Given the description of an element on the screen output the (x, y) to click on. 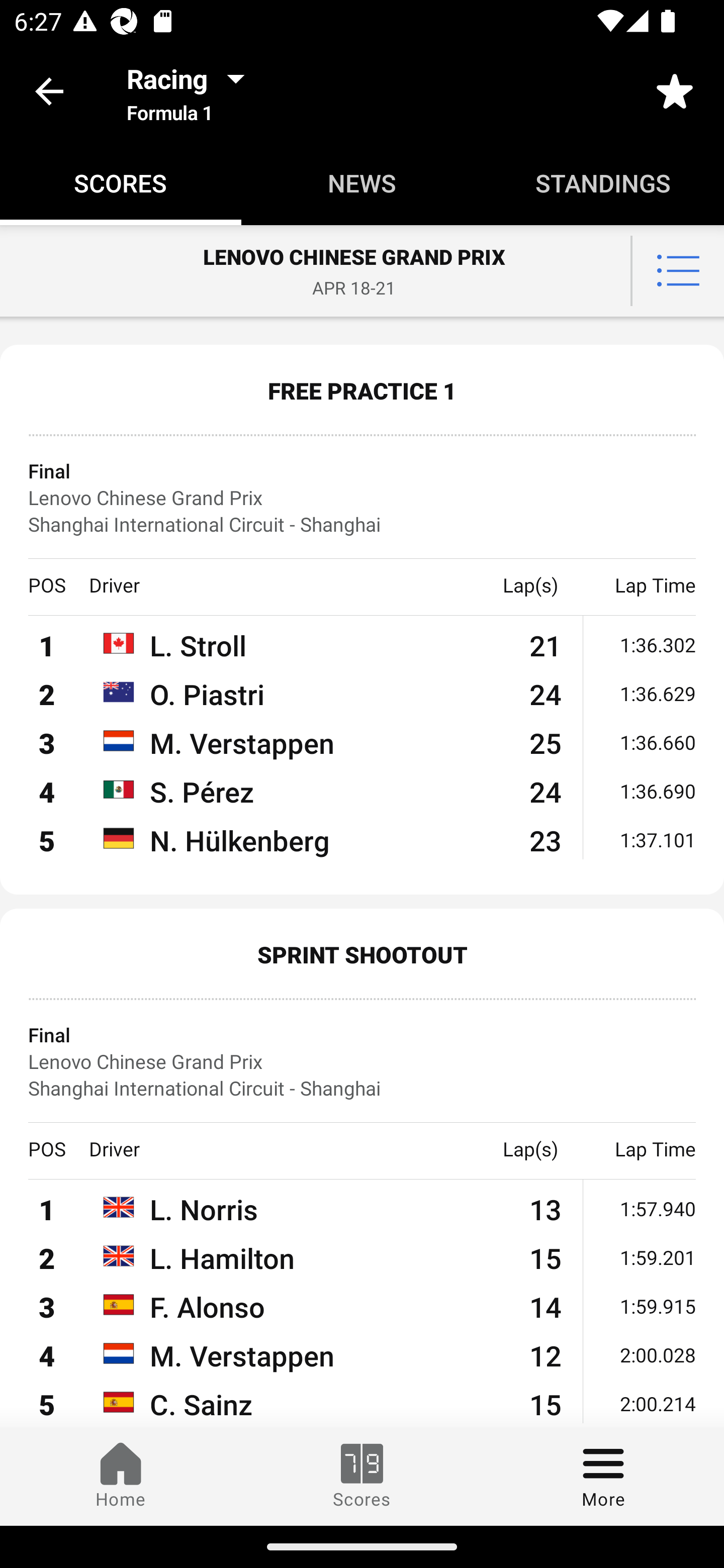
Racing Formula 1 (191, 90)
Favorite toggle (674, 90)
News NEWS (361, 183)
Standings STANDINGS (603, 183)
LENOVO CHINESE GRAND PRIX APR 18-21 ^ (362, 270)
FREE PRACTICE 1 (362, 389)
SPRINT SHOOTOUT (362, 953)
Home (120, 1475)
Scores (361, 1475)
